Given the description of an element on the screen output the (x, y) to click on. 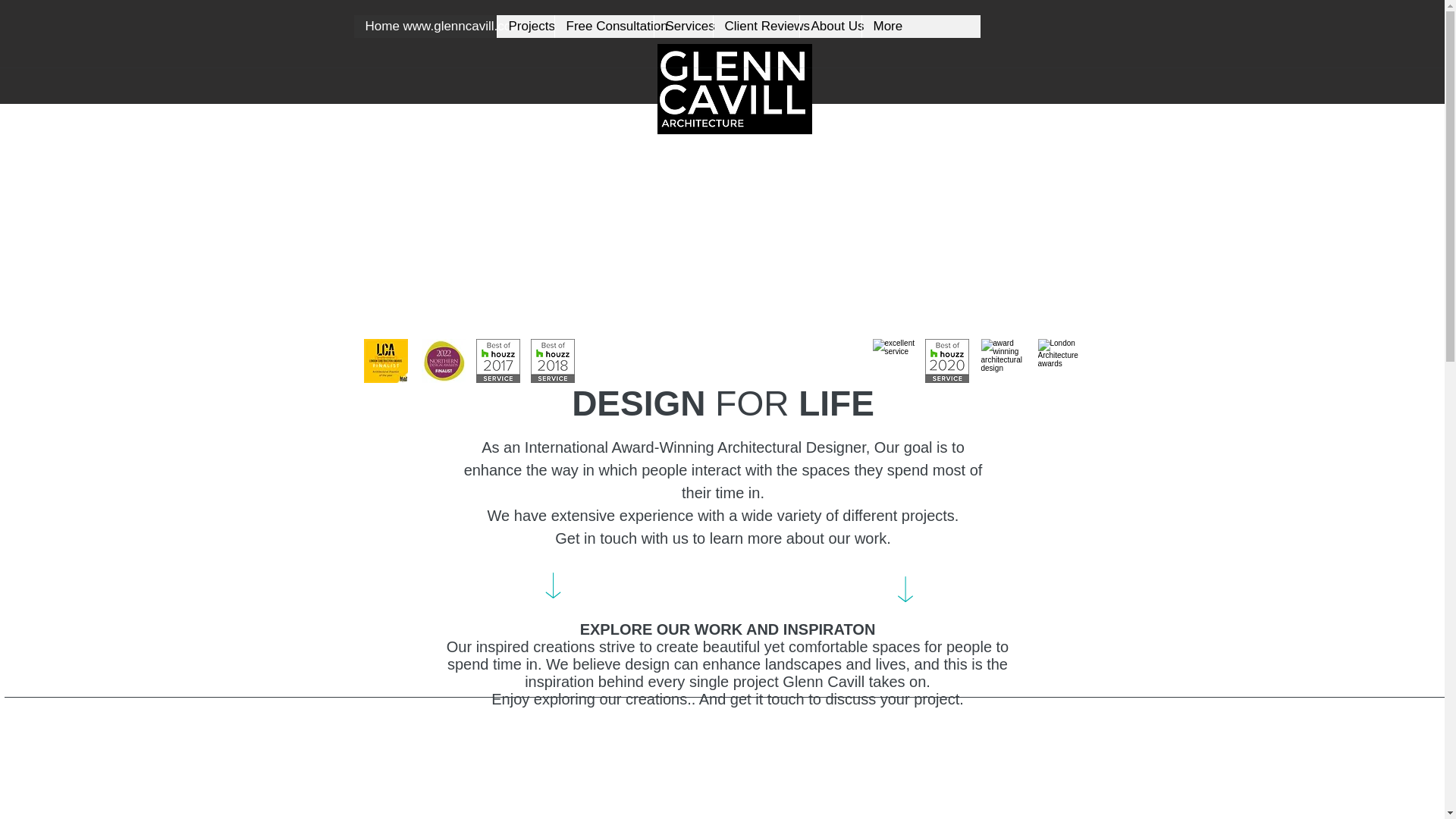
Home www.glenncavill.com (424, 26)
Services (683, 26)
Projects (524, 26)
Free Consultation (602, 26)
About Us (830, 26)
Client Reviews (756, 26)
